Given the description of an element on the screen output the (x, y) to click on. 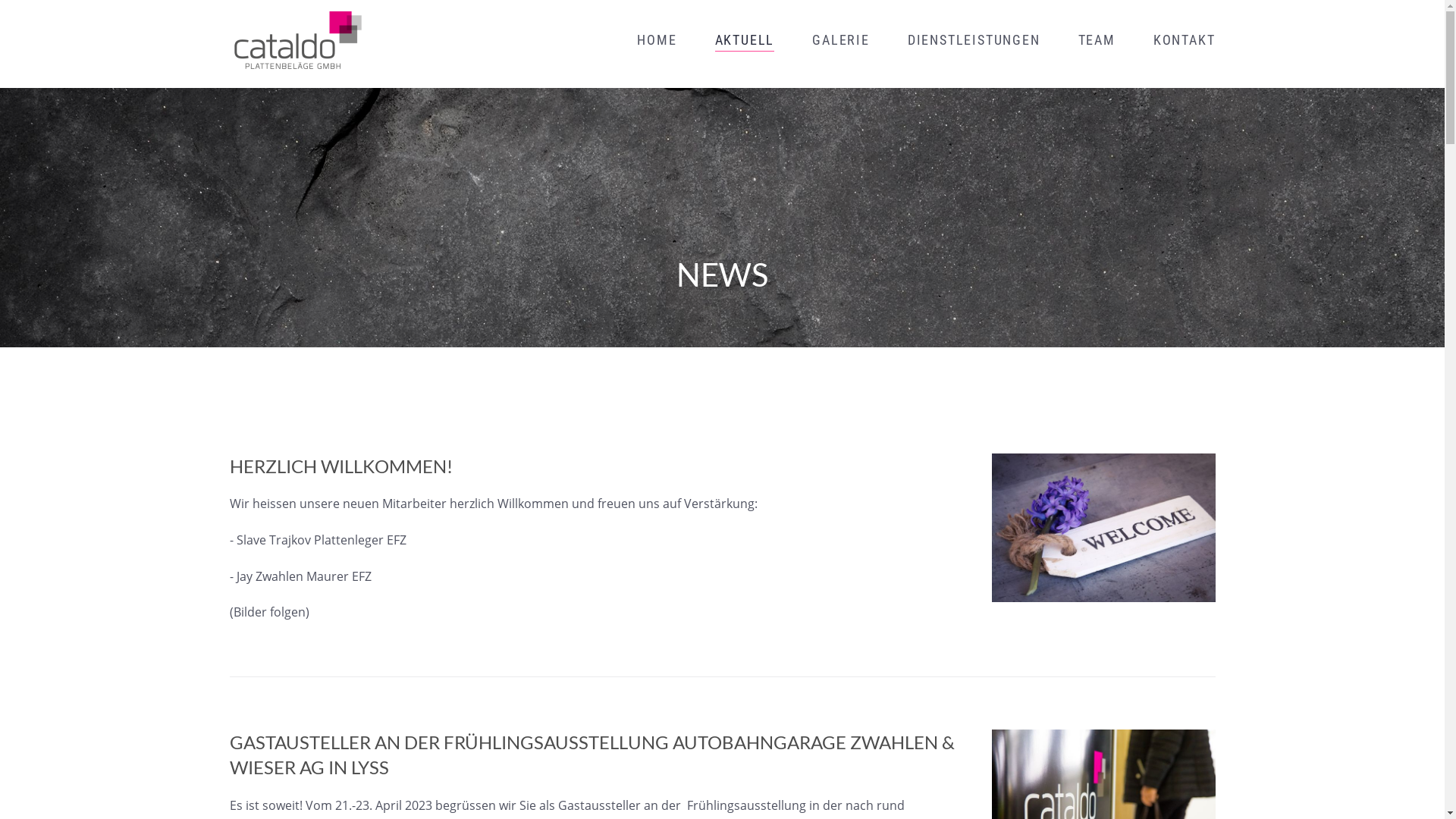
HOME Element type: text (656, 39)
GALERIE Element type: text (840, 39)
AKTUELL Element type: text (744, 39)
DIENSTLEISTUNGEN Element type: text (973, 39)
KONTAKT Element type: text (1184, 39)
TEAM Element type: text (1096, 39)
